Given the description of an element on the screen output the (x, y) to click on. 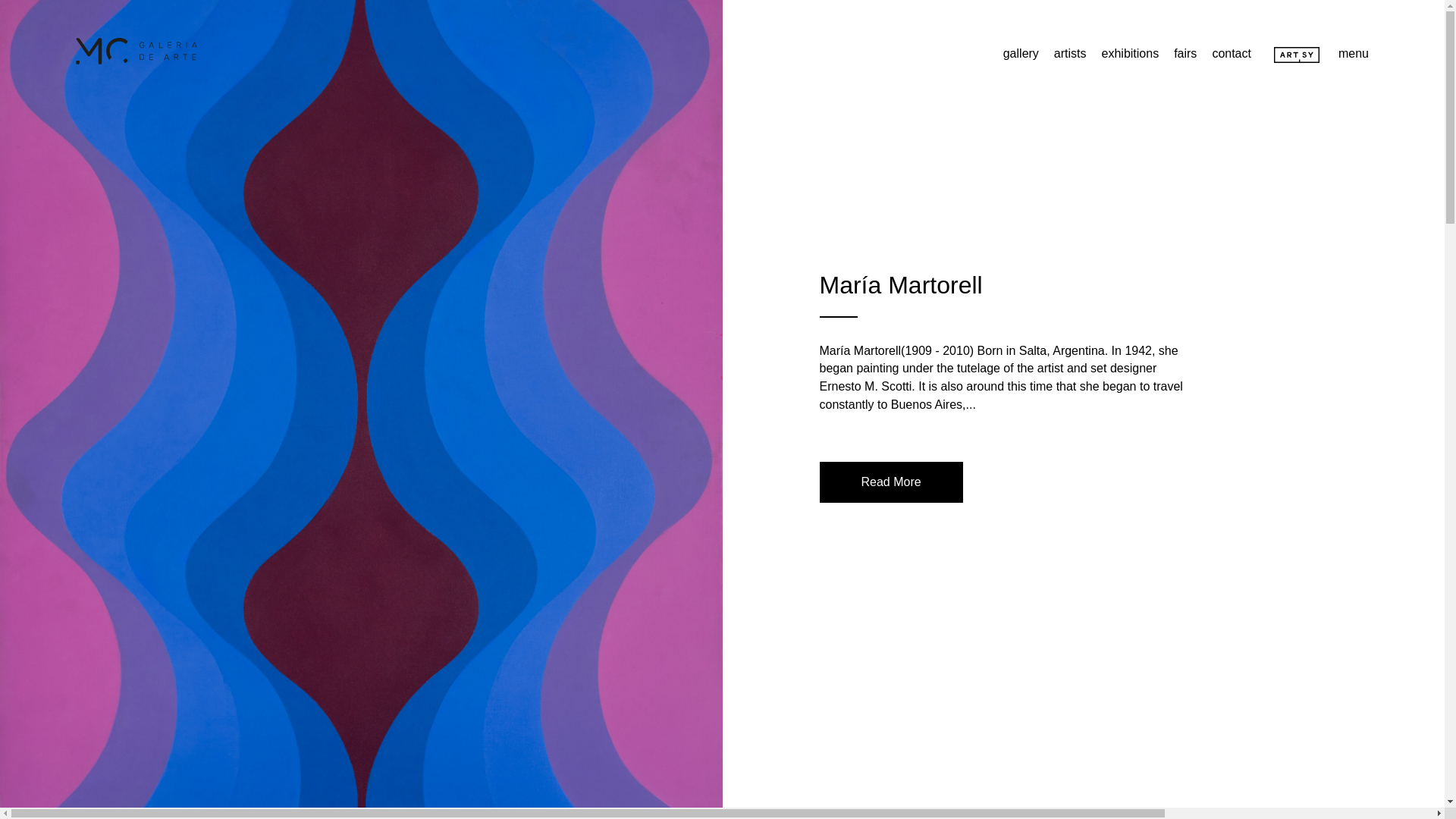
artists (1070, 52)
contact (1230, 52)
fairs (1184, 52)
exhibitions (1130, 52)
gallery (1021, 52)
